Given the description of an element on the screen output the (x, y) to click on. 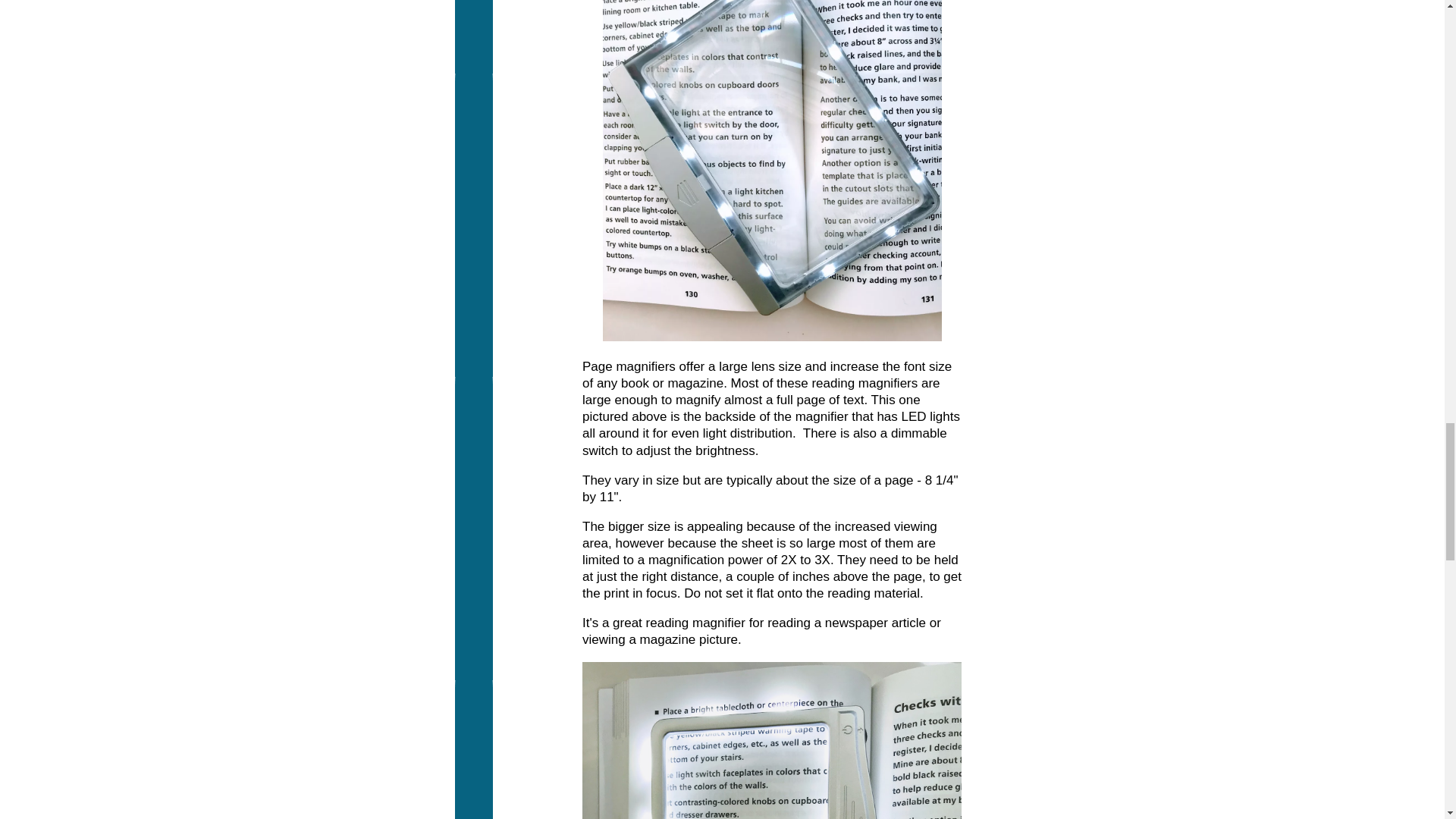
light up book magnifier (771, 170)
book light magnifier (771, 739)
